Given the description of an element on the screen output the (x, y) to click on. 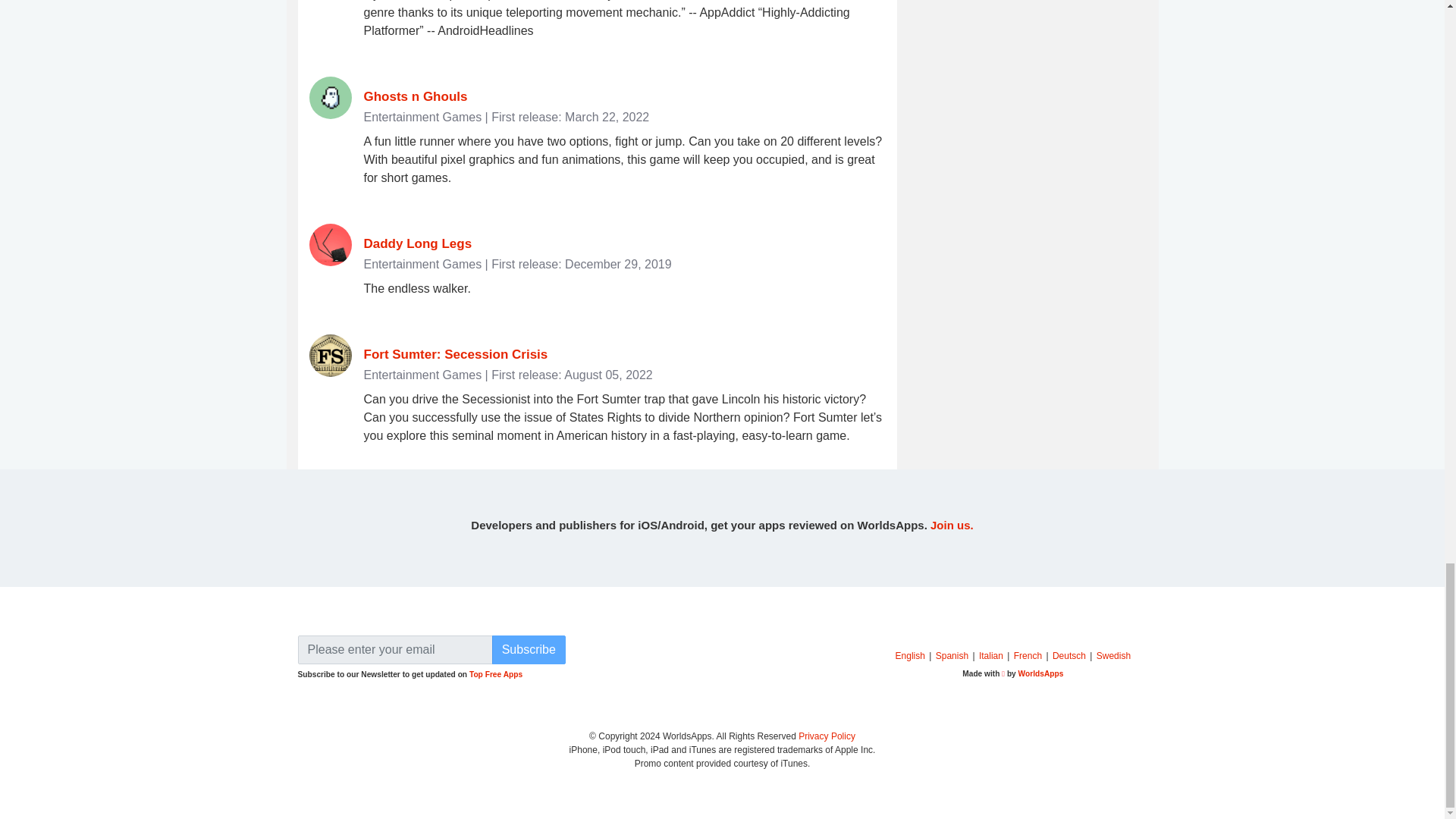
Daddy Long Legs (417, 243)
Subscribe (529, 649)
Join us. (952, 524)
Fort Sumter: Secession Crisis (456, 354)
Top Free Apps (495, 674)
Ghosts n Ghouls (415, 96)
